Given the description of an element on the screen output the (x, y) to click on. 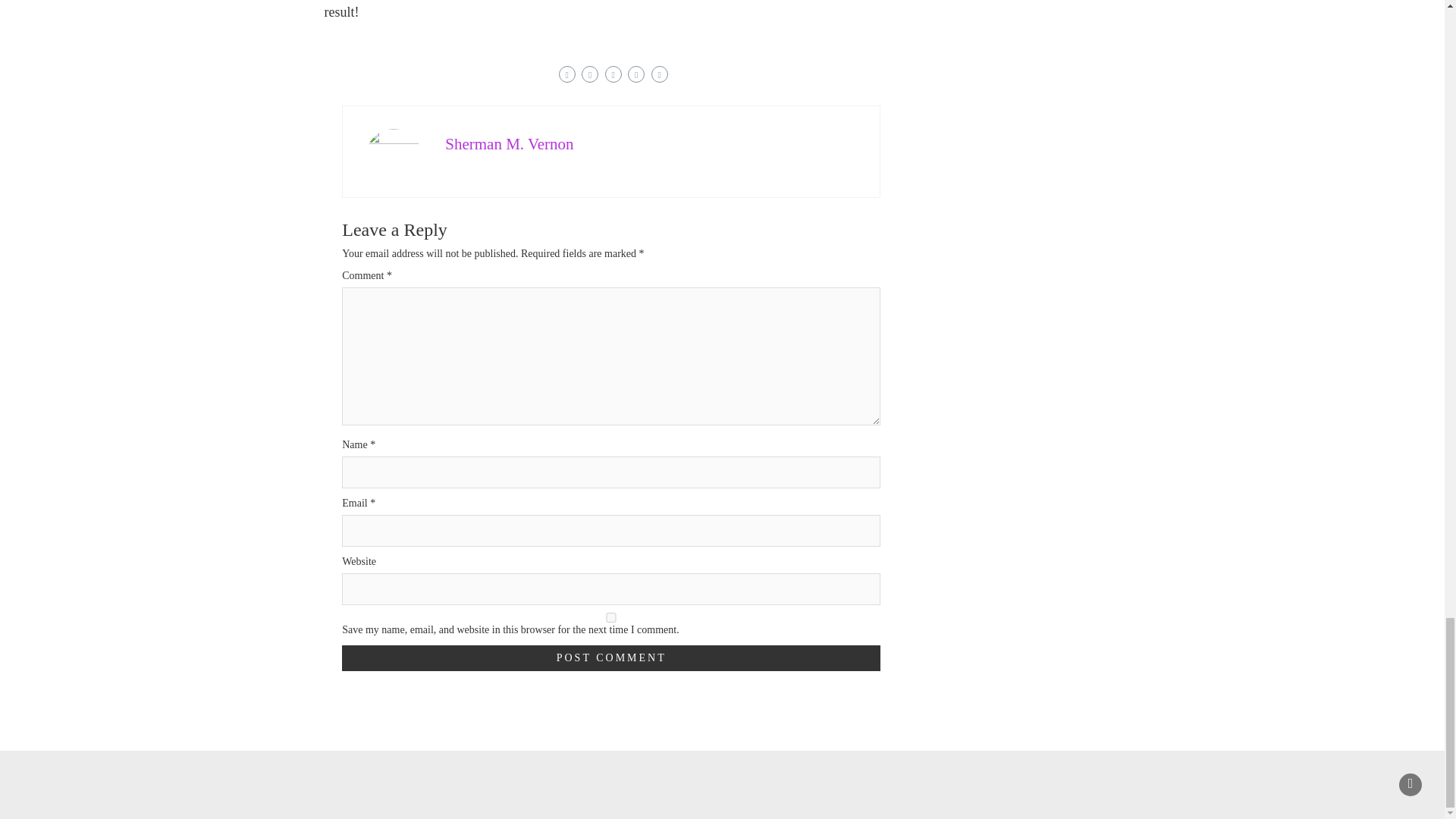
yes (611, 617)
Sherman M. Vernon (509, 143)
Post Comment (611, 657)
Post Comment (611, 657)
